Given the description of an element on the screen output the (x, y) to click on. 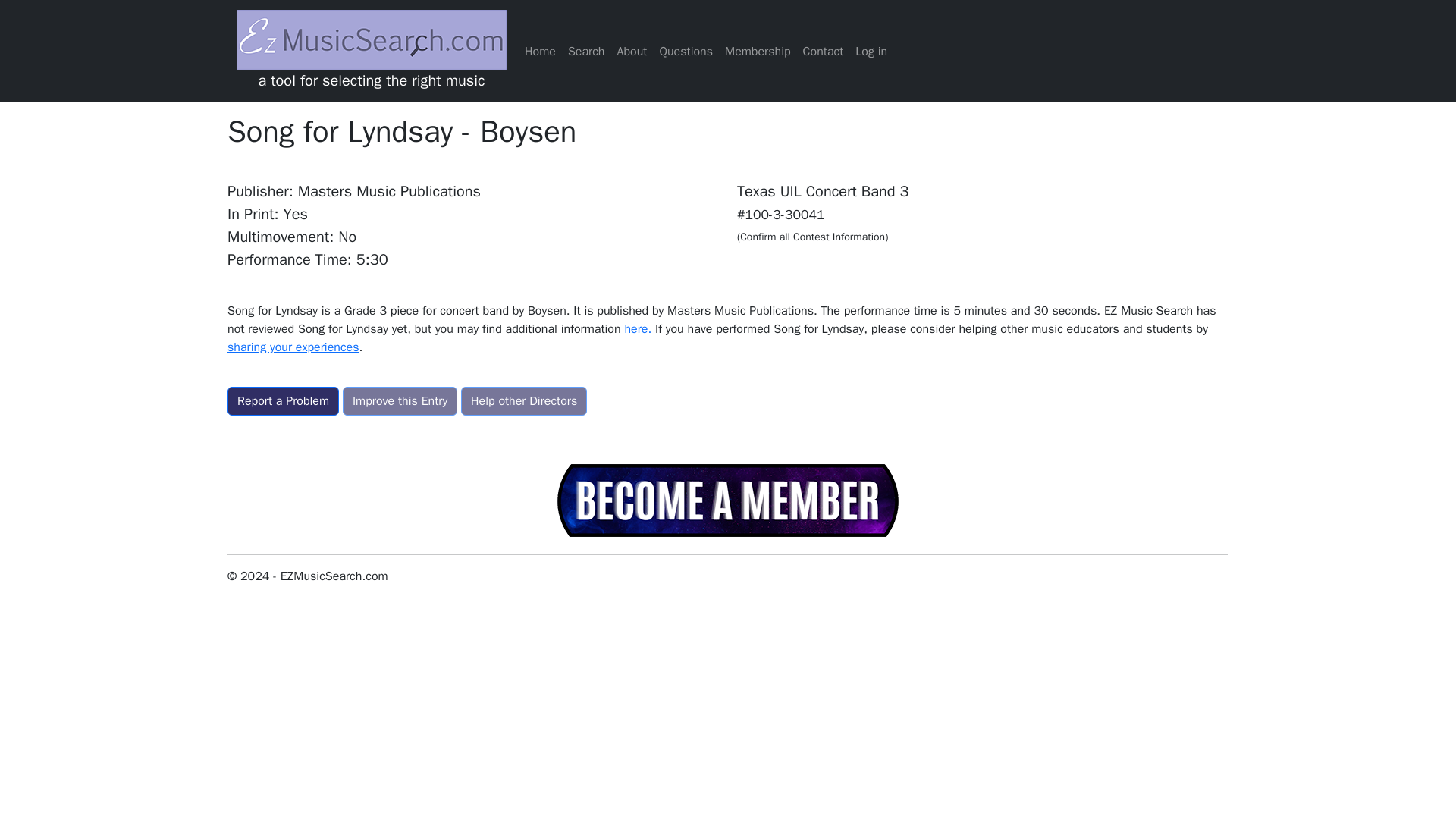
Help other Directors (523, 400)
here. (637, 328)
Search (586, 51)
Report a Problem (283, 400)
Questions (685, 51)
About (631, 51)
sharing your experiences (293, 346)
Home (540, 51)
a tool for selecting the right music (370, 50)
Membership (757, 51)
